Given the description of an element on the screen output the (x, y) to click on. 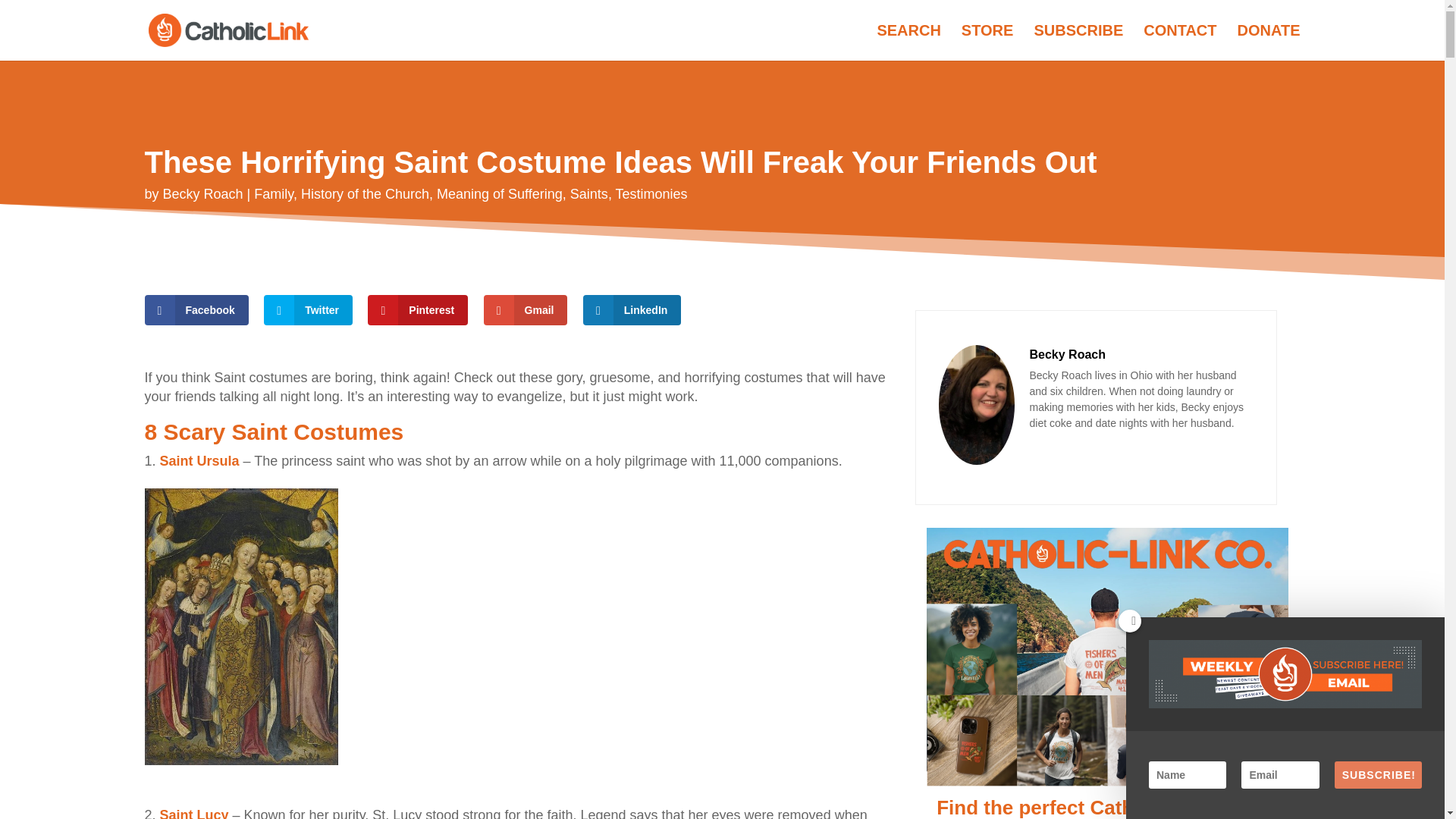
Becky Roach (203, 193)
Pinterest (417, 309)
Testimonies (651, 193)
SUBSCRIBE (1077, 42)
Meaning of Suffering (499, 193)
Saint Lucy (194, 813)
History of the Church (365, 193)
DONATE (1268, 42)
STORE (986, 42)
Twitter (307, 309)
Facebook (195, 309)
Saints (589, 193)
CONTACT (1178, 42)
SEARCH (908, 42)
Saint Ursula (200, 460)
